Given the description of an element on the screen output the (x, y) to click on. 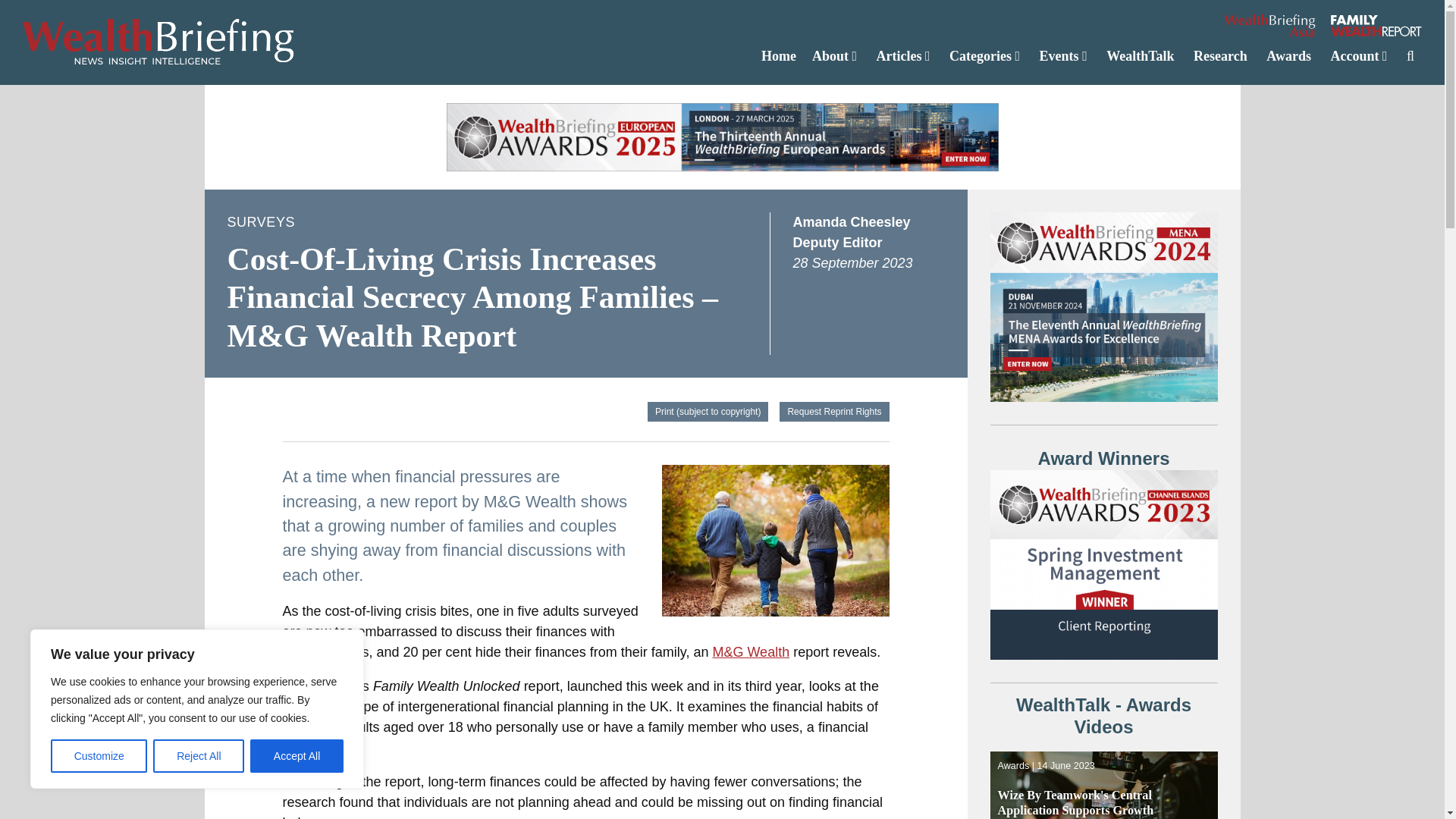
Accept All (296, 756)
Reject All (198, 756)
Customize (98, 756)
